Given the description of an element on the screen output the (x, y) to click on. 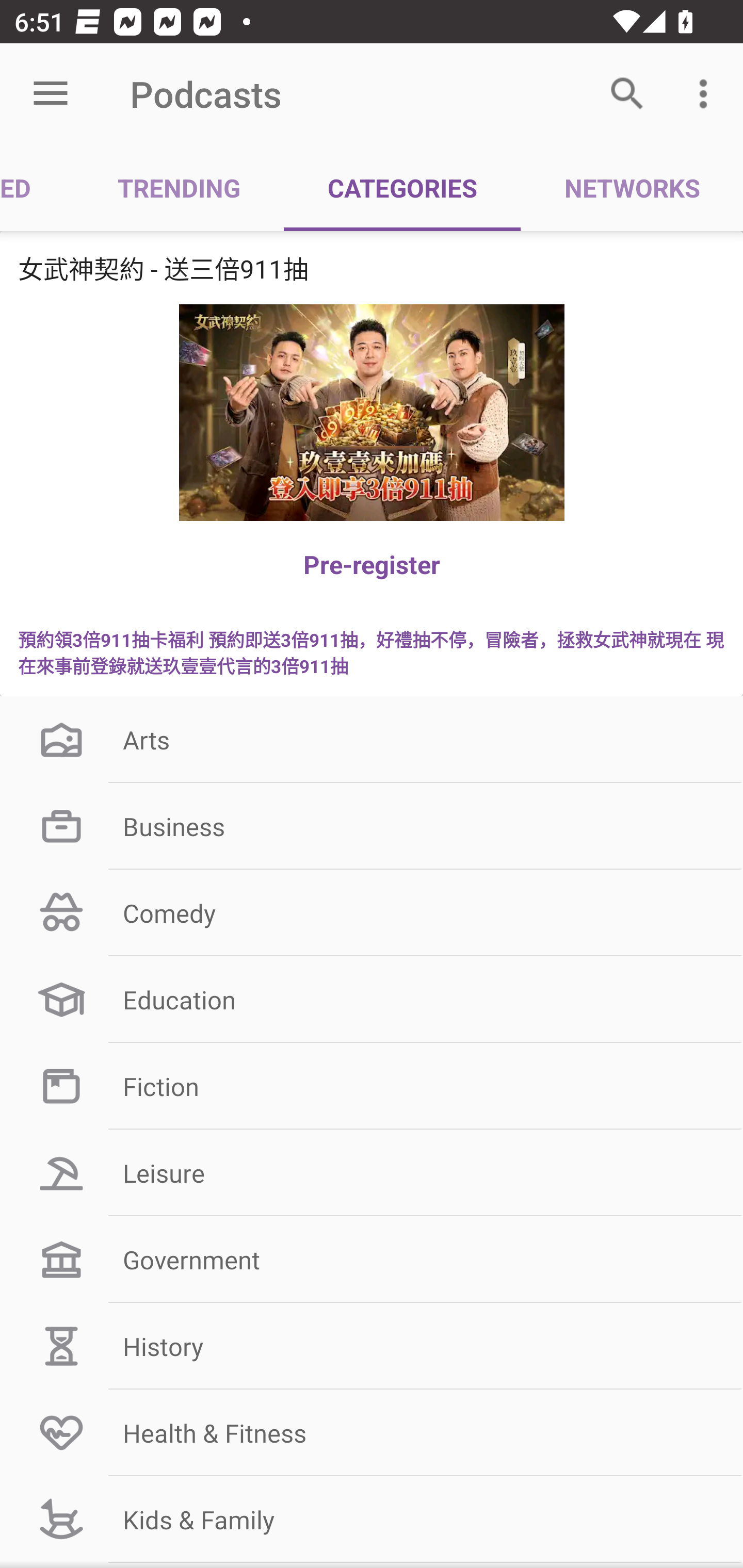
Open menu (50, 93)
Search (626, 93)
More options (706, 93)
TRENDING (178, 187)
CATEGORIES (401, 187)
NETWORKS (631, 187)
女武神契約 - 送三倍911抽 (371, 267)
Pre-register (371, 564)
Arts (371, 739)
Business (371, 826)
Comedy (371, 913)
Education (371, 999)
Fiction (371, 1085)
Leisure (371, 1172)
Government (371, 1259)
History (371, 1346)
Health & Fitness (371, 1432)
Kids & Family (371, 1519)
